Given the description of an element on the screen output the (x, y) to click on. 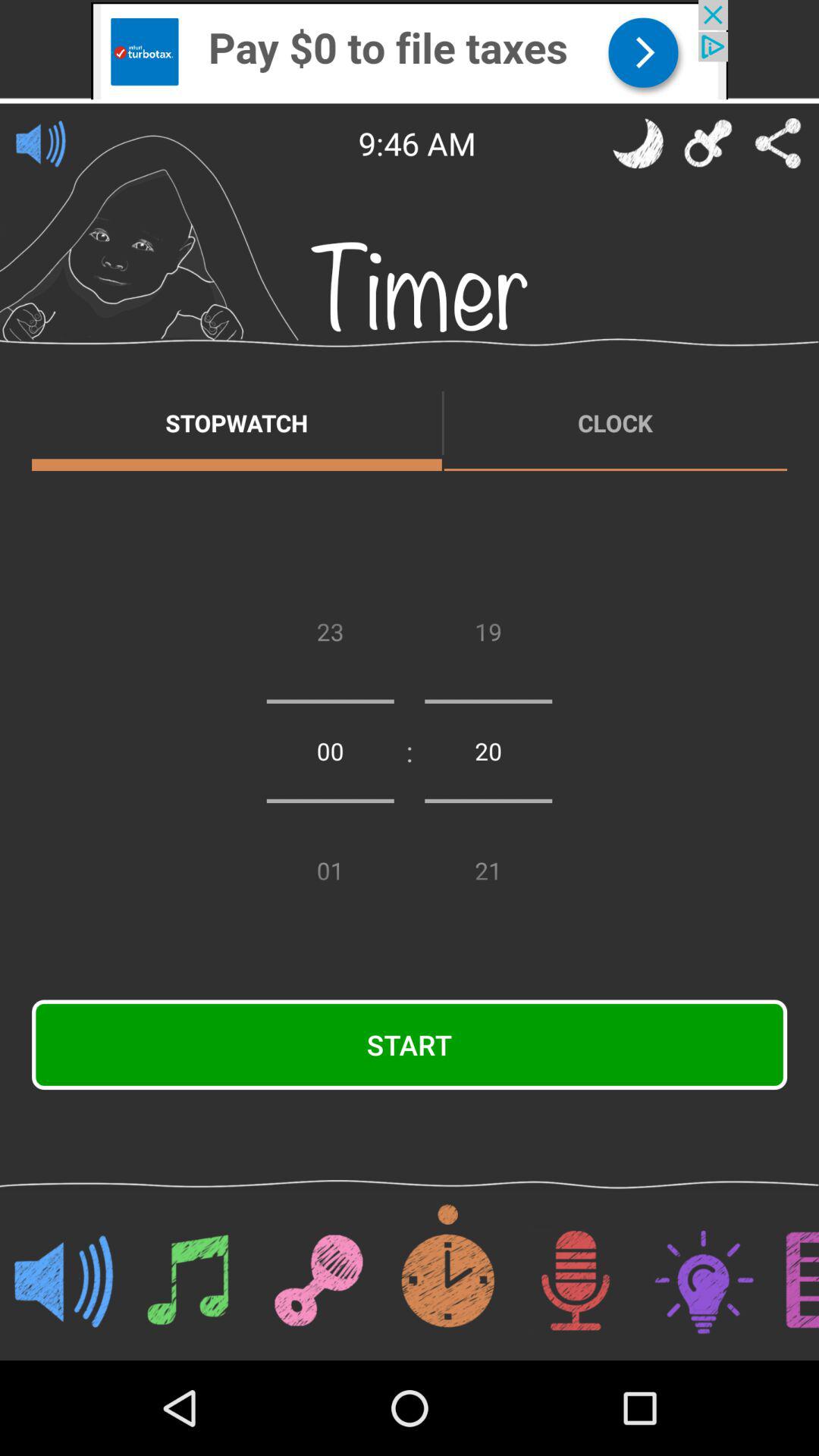
help your baby relax stop crying and sleep better (638, 143)
